Given the description of an element on the screen output the (x, y) to click on. 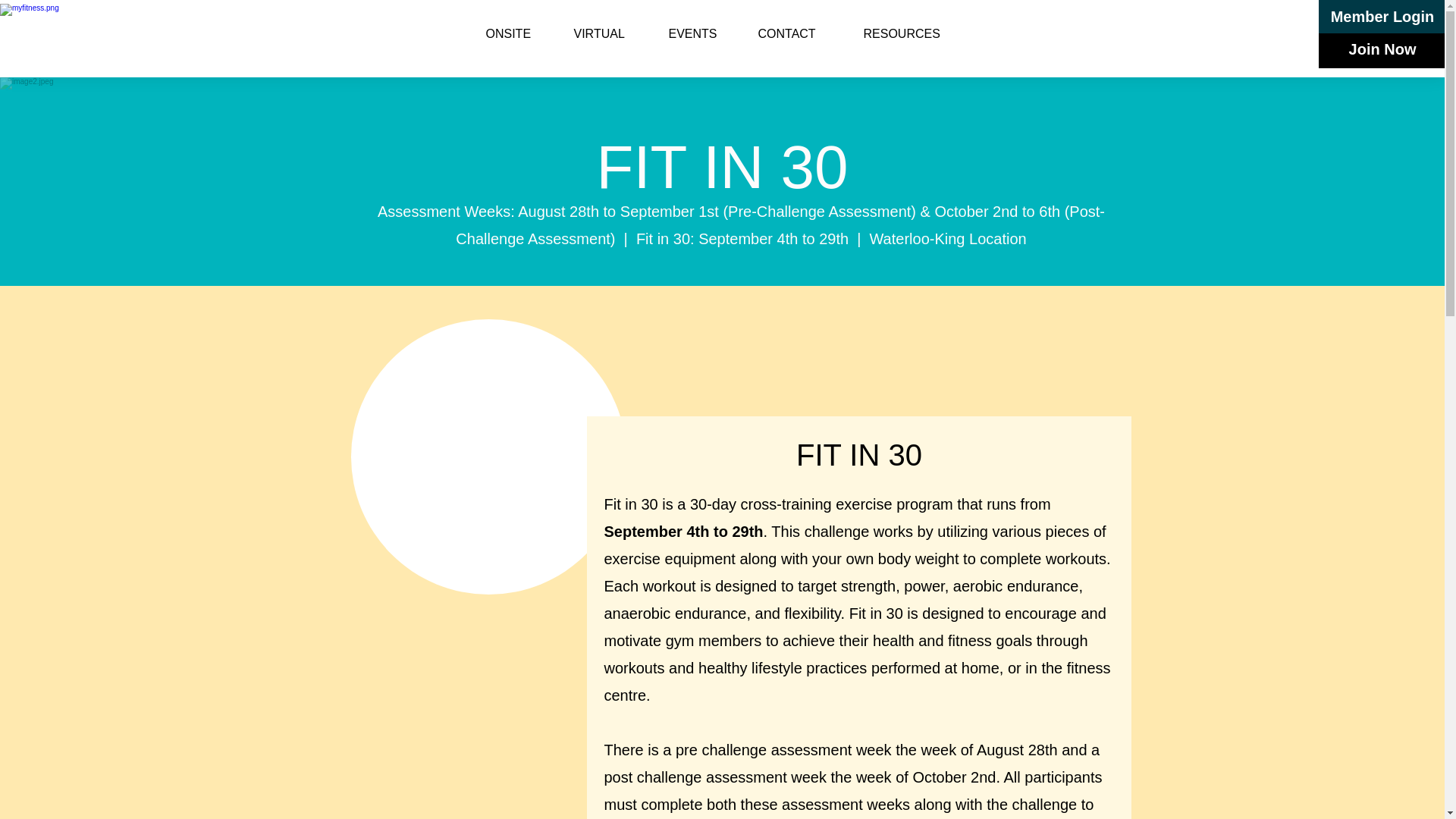
CONTACT (798, 34)
ONSITE (518, 34)
VIRTUAL (610, 34)
EVENTS (700, 34)
